Given the description of an element on the screen output the (x, y) to click on. 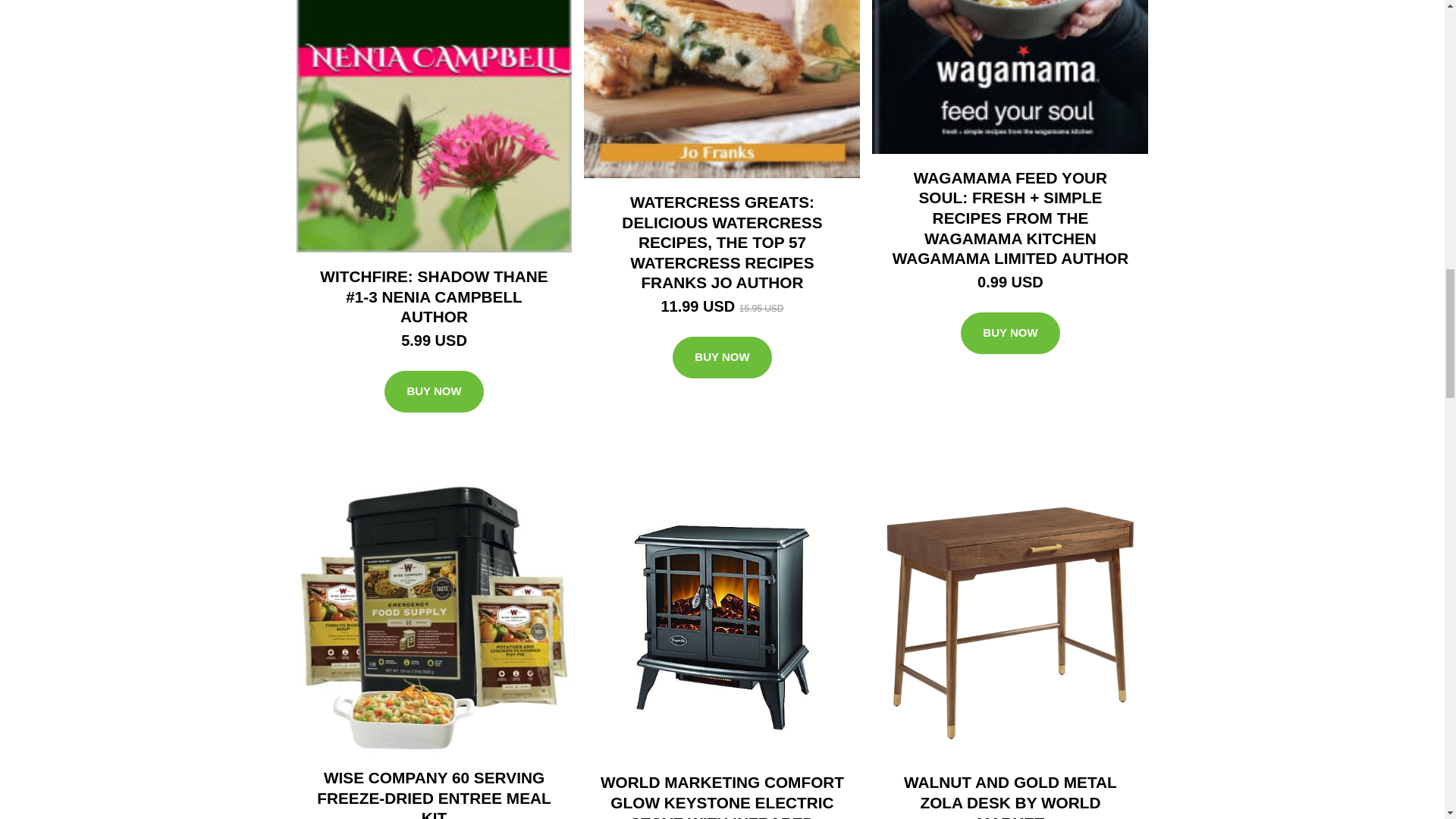
WISE COMPANY 60 SERVING FREEZE-DRIED ENTREE MEAL KIT (434, 794)
BUY NOW (433, 392)
BUY NOW (1009, 333)
BUY NOW (721, 357)
